Given the description of an element on the screen output the (x, y) to click on. 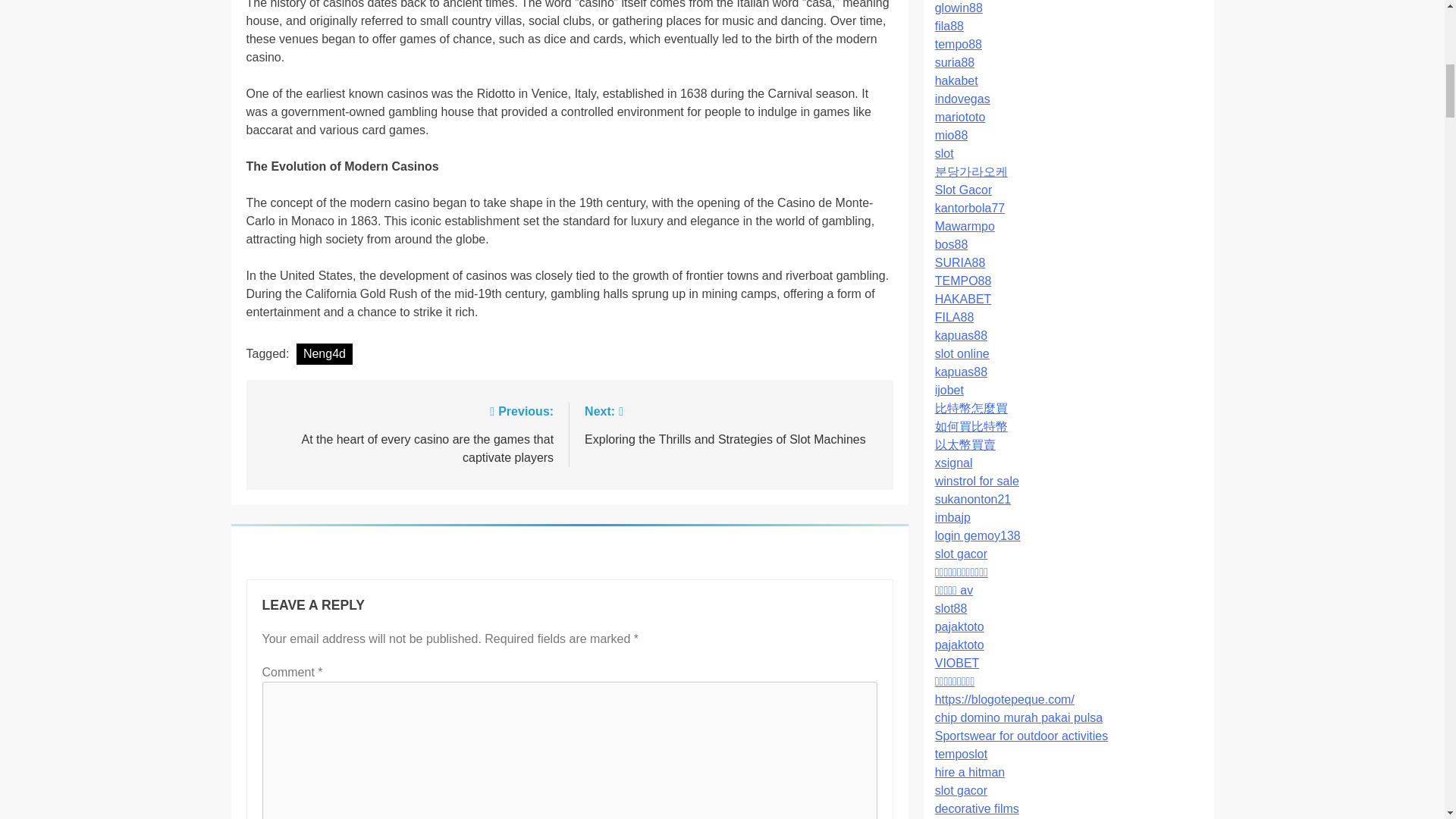
Neng4d (324, 353)
